Given the description of an element on the screen output the (x, y) to click on. 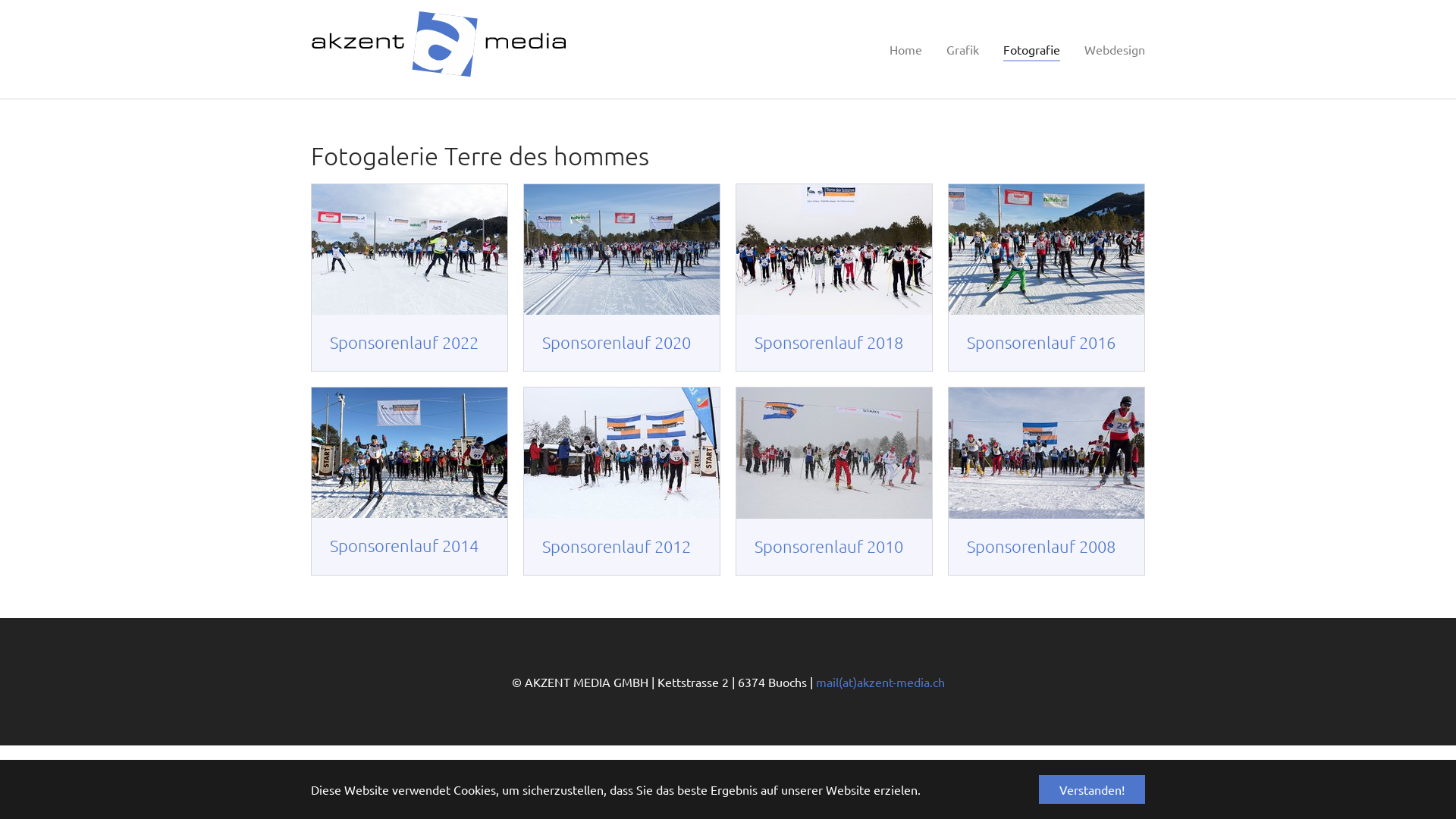
Sponsorenlauf 2012 Element type: hover (621, 450)
Fotografie Element type: text (1032, 49)
Sponsorenlauf 2012 Element type: text (616, 545)
Sponsorenlauf 2022 Element type: hover (409, 246)
Sponsorenlauf 2008 Element type: text (1040, 545)
Sponsorenlauf 2008 Element type: hover (1046, 450)
Sponsorenlauf 2020 Element type: text (616, 341)
Sponsorenlauf 2018 Element type: hover (833, 246)
Webdesign Element type: text (1114, 49)
Sponsorenlauf 2014 Element type: hover (409, 450)
Home Element type: text (908, 49)
Grafik Element type: text (965, 49)
Sponsorenlauf 2014 Element type: text (403, 545)
Sponsorenlauf 2010 Element type: hover (833, 450)
Sponsorenlauf 2022 Element type: text (403, 341)
Sponsorenlauf 2010 Element type: text (828, 545)
Sponsorenlauf 2020 Element type: hover (621, 246)
mail(at)akzent-media.ch Element type: text (883, 680)
Sponsorenlauf 2016 Element type: hover (1046, 246)
Sponsorenlauf 2016 Element type: text (1040, 341)
Verstanden! Element type: text (1091, 789)
Sponsorenlauf 2018 Element type: text (828, 341)
